Given the description of an element on the screen output the (x, y) to click on. 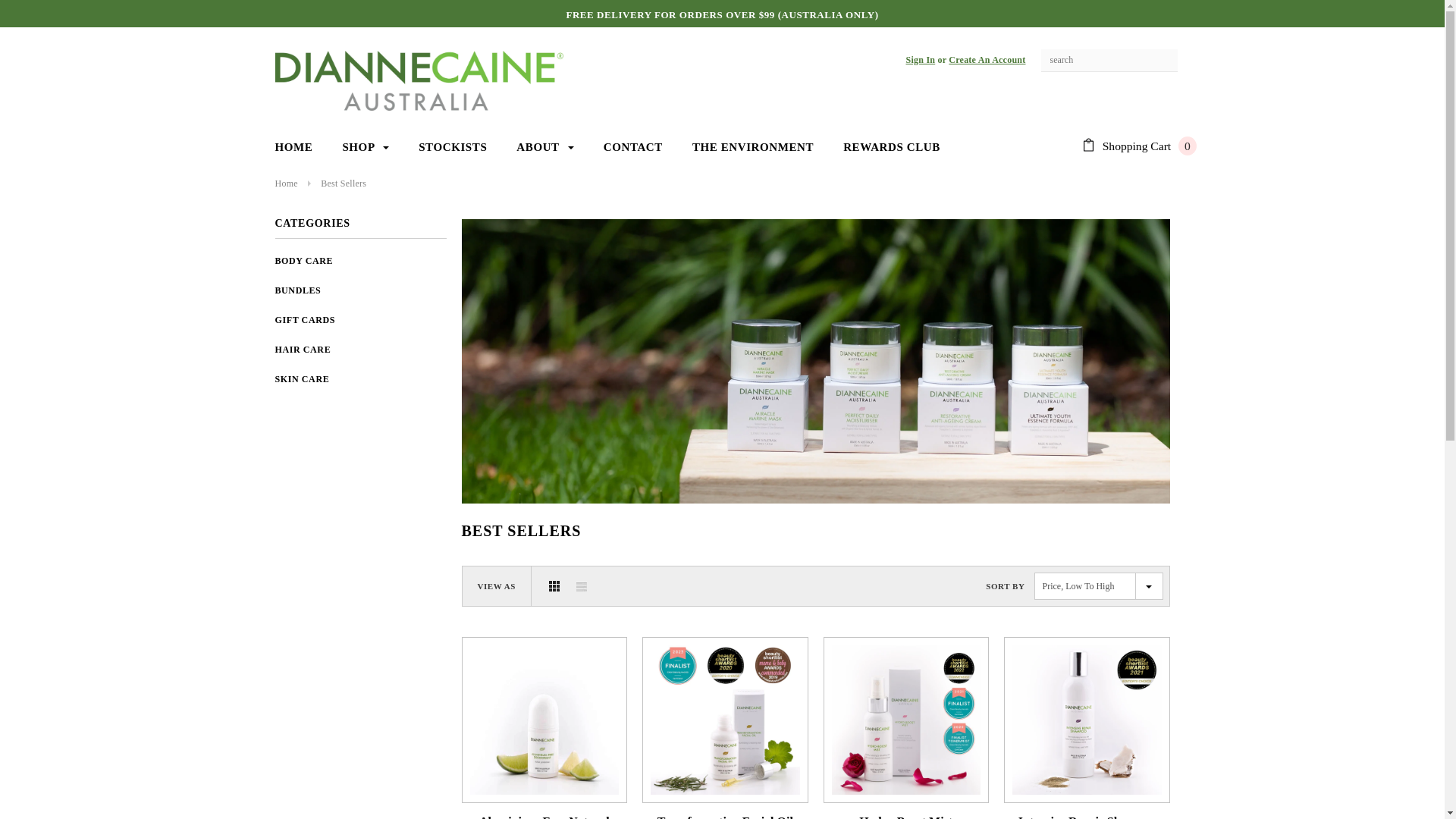
CONTACT Element type: text (632, 147)
Select options Element type: text (1086, 712)
GIFT CARDS Element type: text (304, 319)
Grid view Element type: hover (554, 585)
Sign In Element type: text (920, 59)
ABOUT Element type: text (544, 147)
Add to Cart Element type: text (725, 712)
SKIN CARE Element type: text (301, 378)
Home Element type: text (285, 183)
Add to Cart Element type: text (543, 712)
BUNDLES Element type: text (297, 290)
Create An Account Element type: text (986, 59)
Add to Cart Element type: text (905, 712)
HOME Element type: text (293, 147)
STOCKISTS Element type: text (452, 147)
SHOP Element type: text (365, 147)
HAIR CARE Element type: text (302, 349)
REWARDS CLUB Element type: text (891, 147)
Price, Low To High Element type: text (1098, 585)
Shopping Cart Element type: text (1136, 145)
Best Sellers Element type: text (343, 183)
List view Element type: hover (581, 585)
THE ENVIRONMENT Element type: text (752, 147)
BODY CARE Element type: text (303, 260)
